Given the description of an element on the screen output the (x, y) to click on. 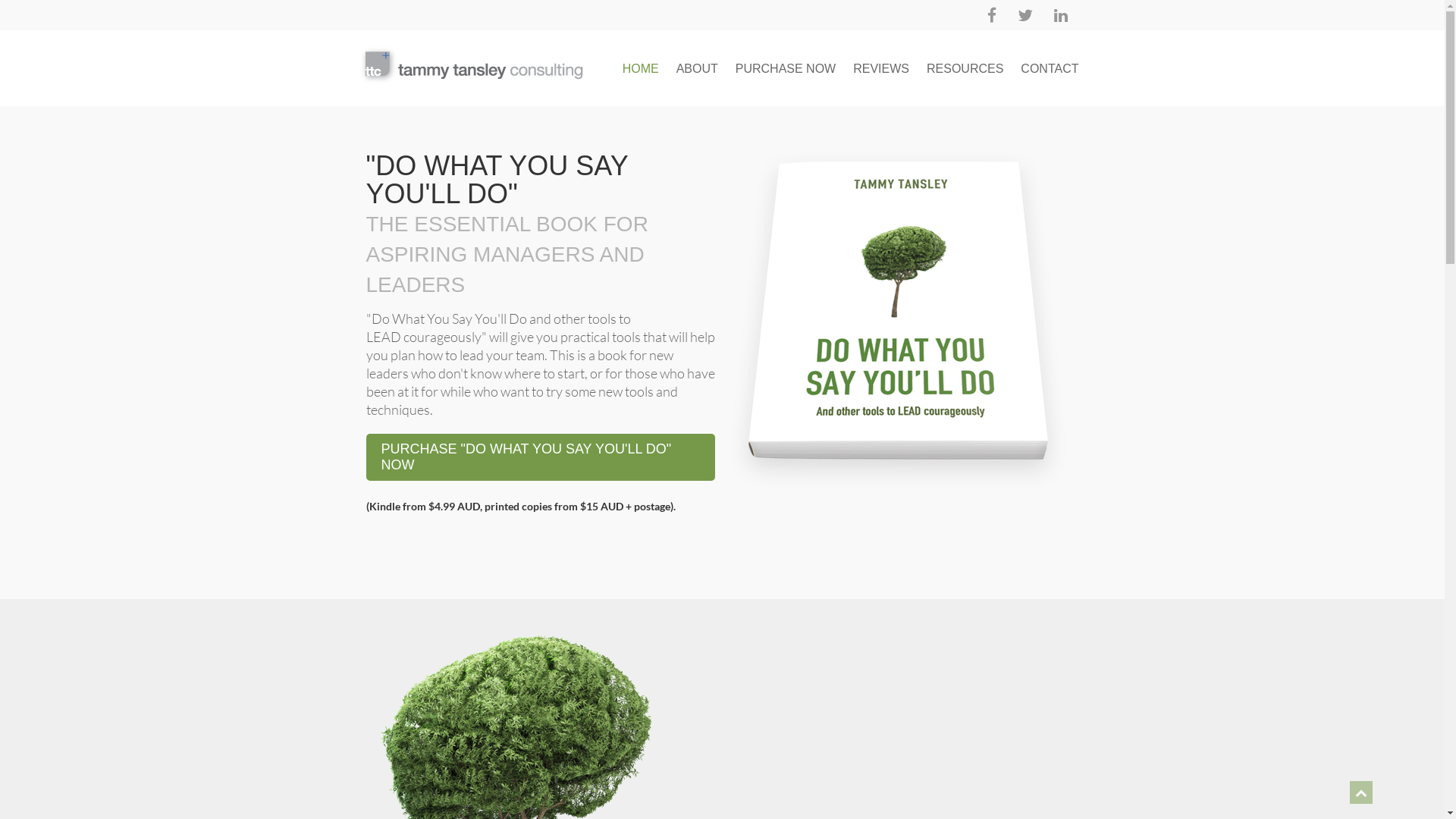
CONTACT Element type: text (1049, 68)
REVIEWS Element type: text (881, 68)
Do What You Say You'll Do Element type: hover (469, 64)
ABOUT Element type: text (697, 68)
HOME Element type: text (640, 68)
RESOURCES Element type: text (964, 68)
PURCHASE NOW Element type: text (785, 68)
PURCHASE "DO WHAT YOU SAY YOU'LL DO" NOW Element type: text (539, 456)
